Given the description of an element on the screen output the (x, y) to click on. 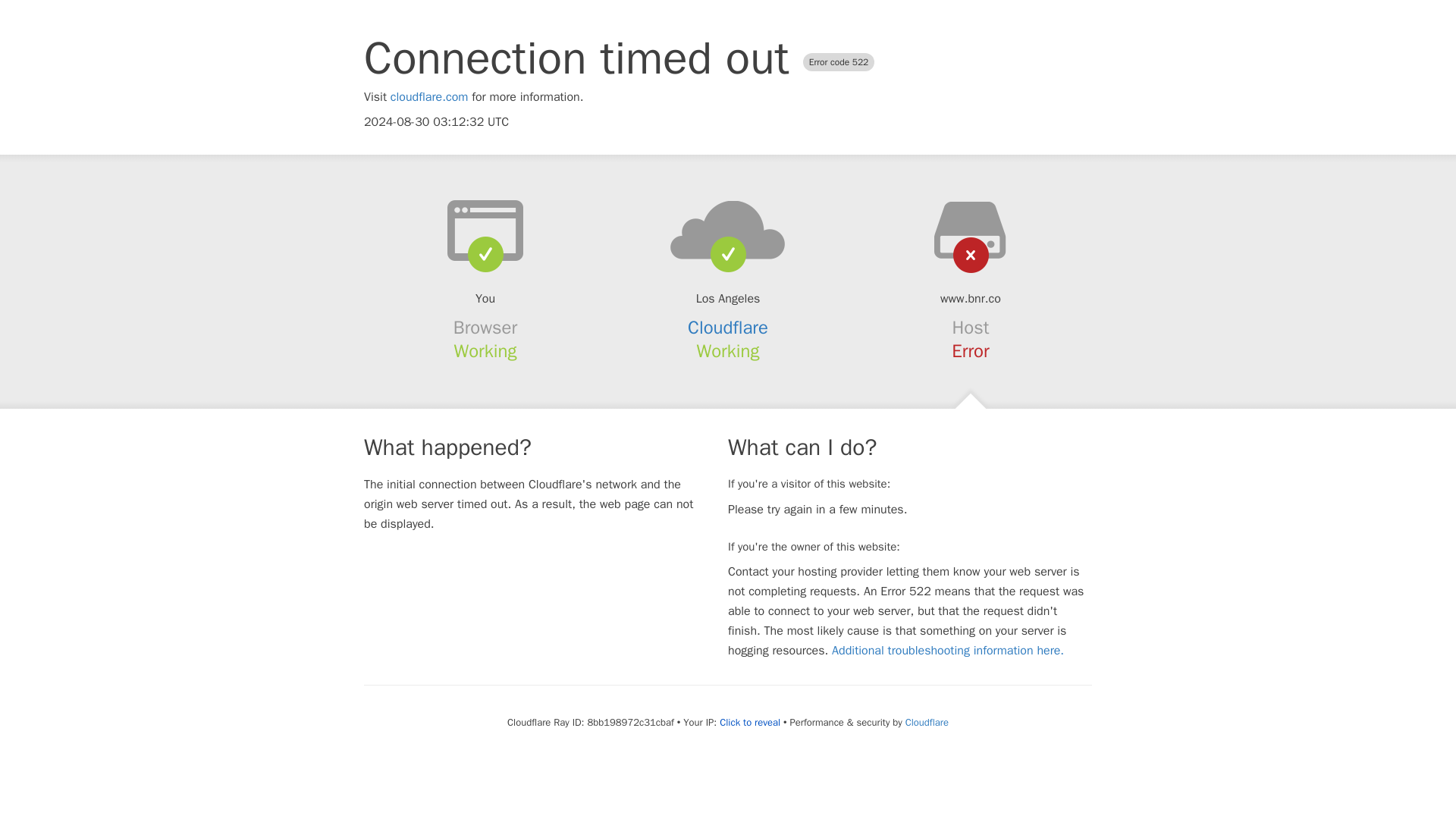
cloudflare.com (429, 96)
Cloudflare (927, 721)
Click to reveal (749, 722)
Additional troubleshooting information here. (947, 650)
Cloudflare (727, 327)
